Given the description of an element on the screen output the (x, y) to click on. 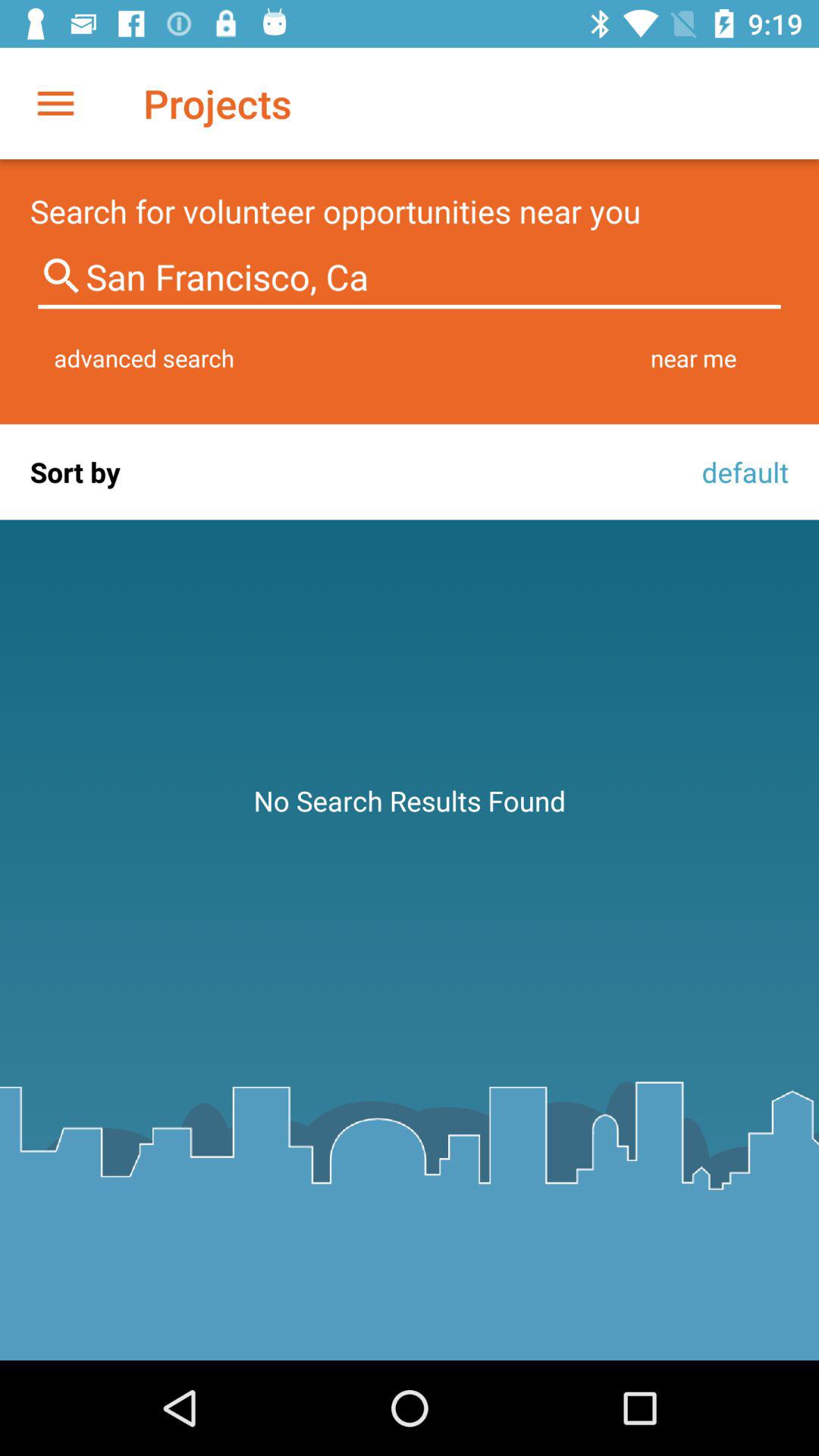
click default icon (740, 471)
